Given the description of an element on the screen output the (x, y) to click on. 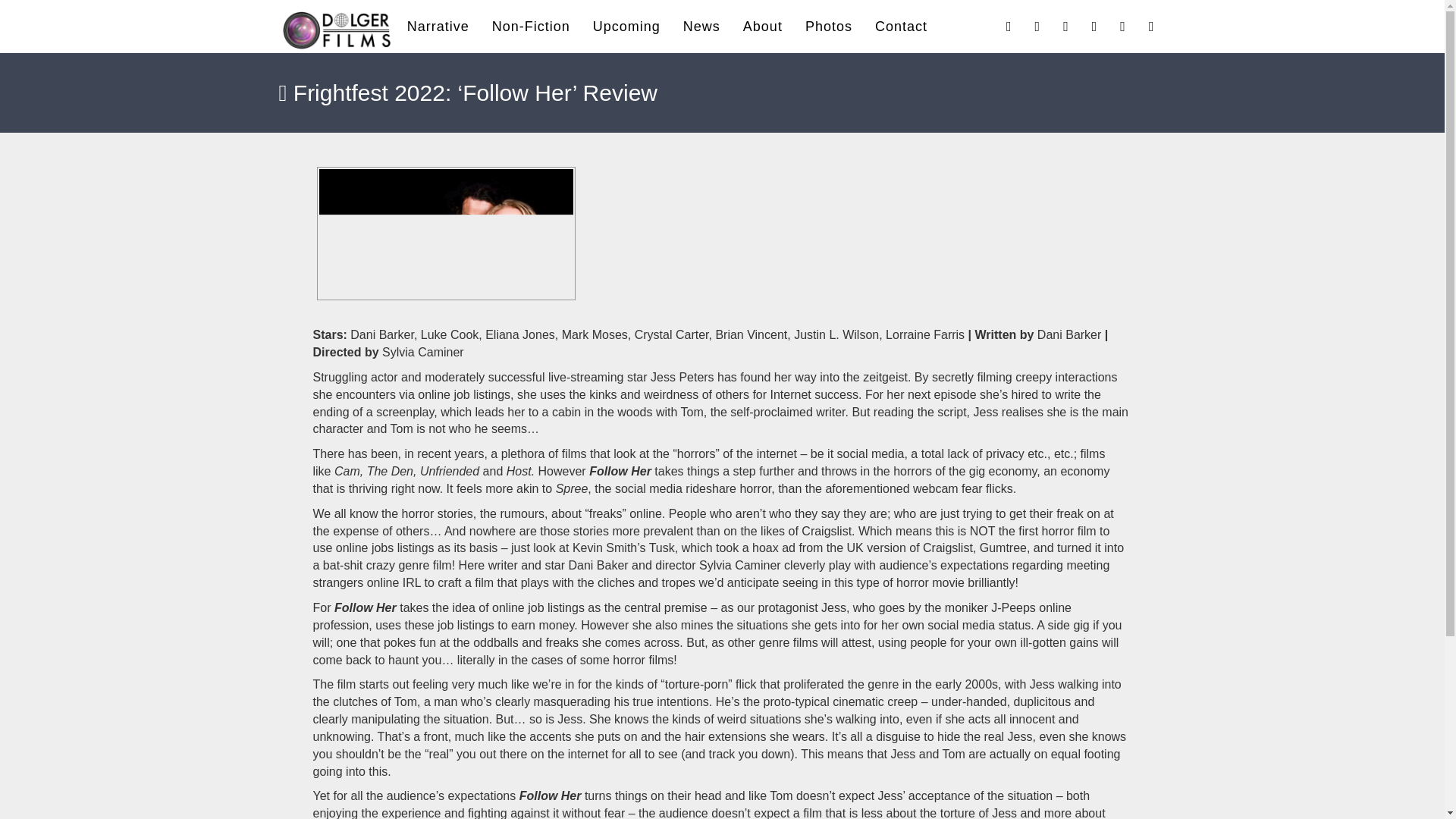
Narrative (438, 26)
Non-Fiction (530, 26)
Upcoming (625, 26)
About (762, 26)
News (701, 26)
Contact (901, 26)
Photos (828, 26)
